Given the description of an element on the screen output the (x, y) to click on. 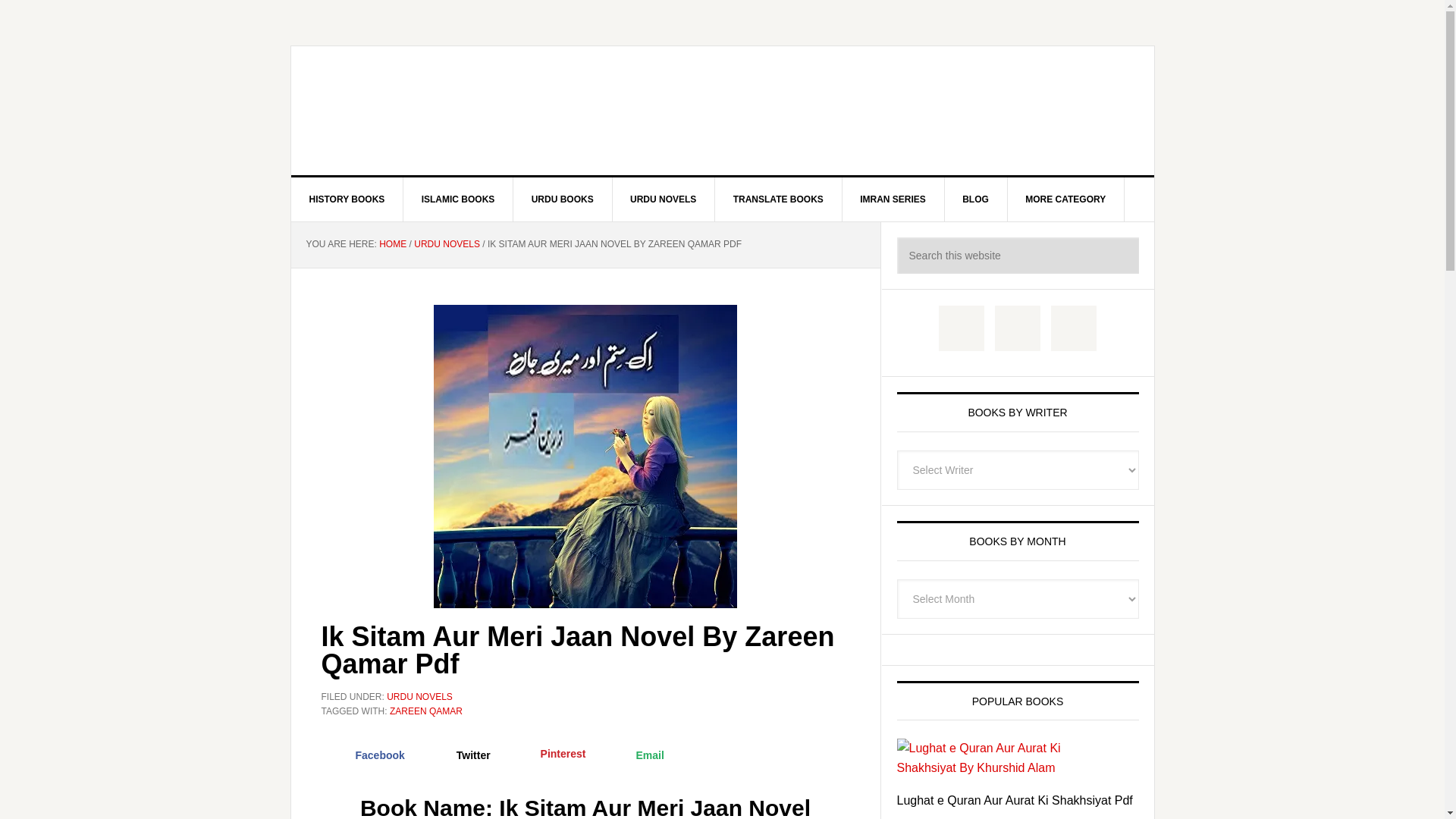
URDU NOVELS (446, 244)
MORE CATEGORY (1065, 199)
HISTORY BOOKS (347, 199)
ZAREEN QAMAR (426, 710)
Twitter (459, 754)
Send over email (635, 754)
TRANSLATE BOOKS (778, 199)
ISLAMIC BOOKS (458, 199)
Facebook (366, 754)
THE LIBRARY PK (722, 110)
URDU NOVELS (662, 199)
HOME (392, 244)
Share on X (459, 754)
BLOG (975, 199)
